Given the description of an element on the screen output the (x, y) to click on. 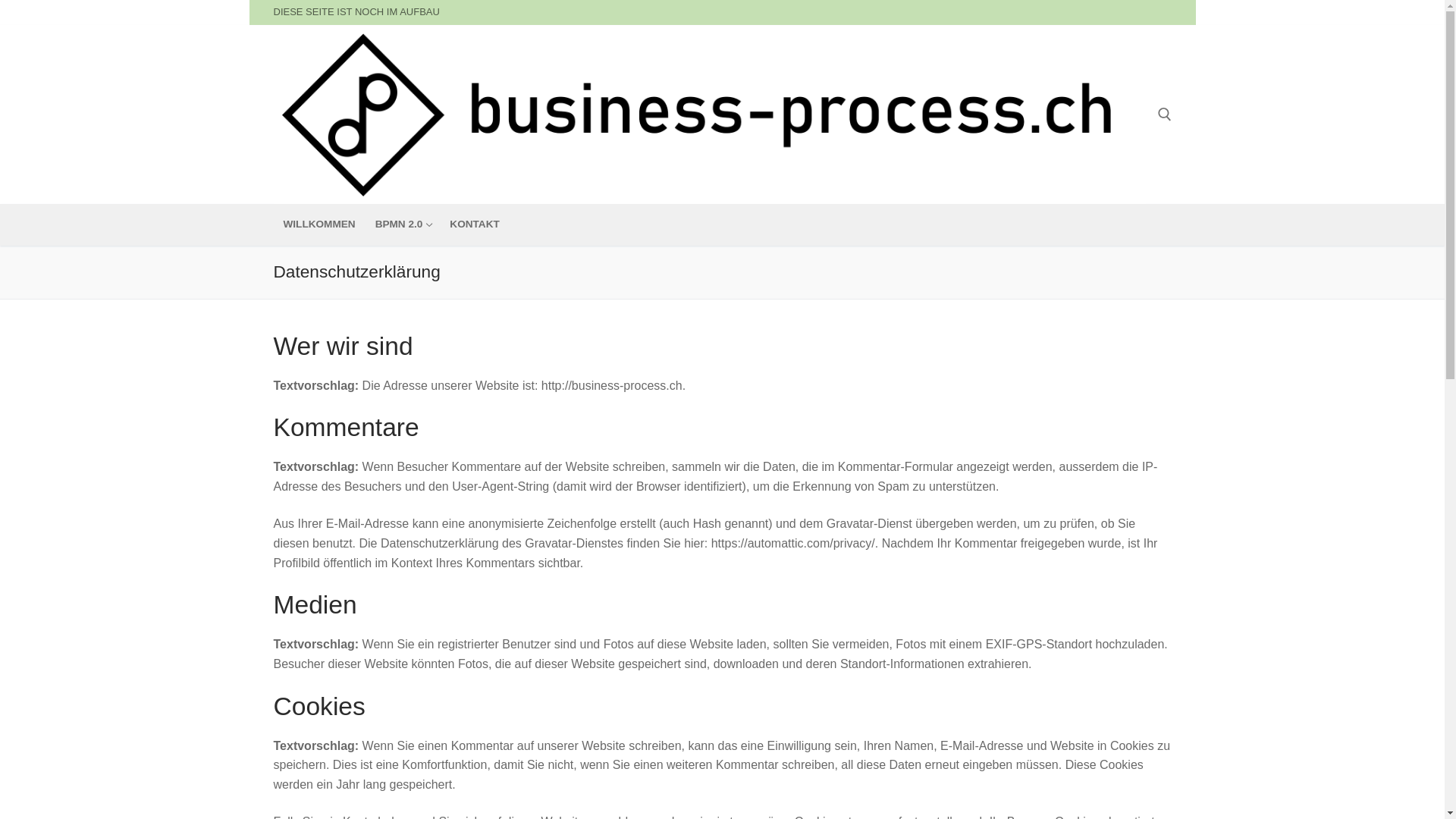
WILLKOMMEN Element type: text (318, 224)
KONTAKT Element type: text (473, 224)
BPMN 2.0
  Element type: text (402, 224)
